Given the description of an element on the screen output the (x, y) to click on. 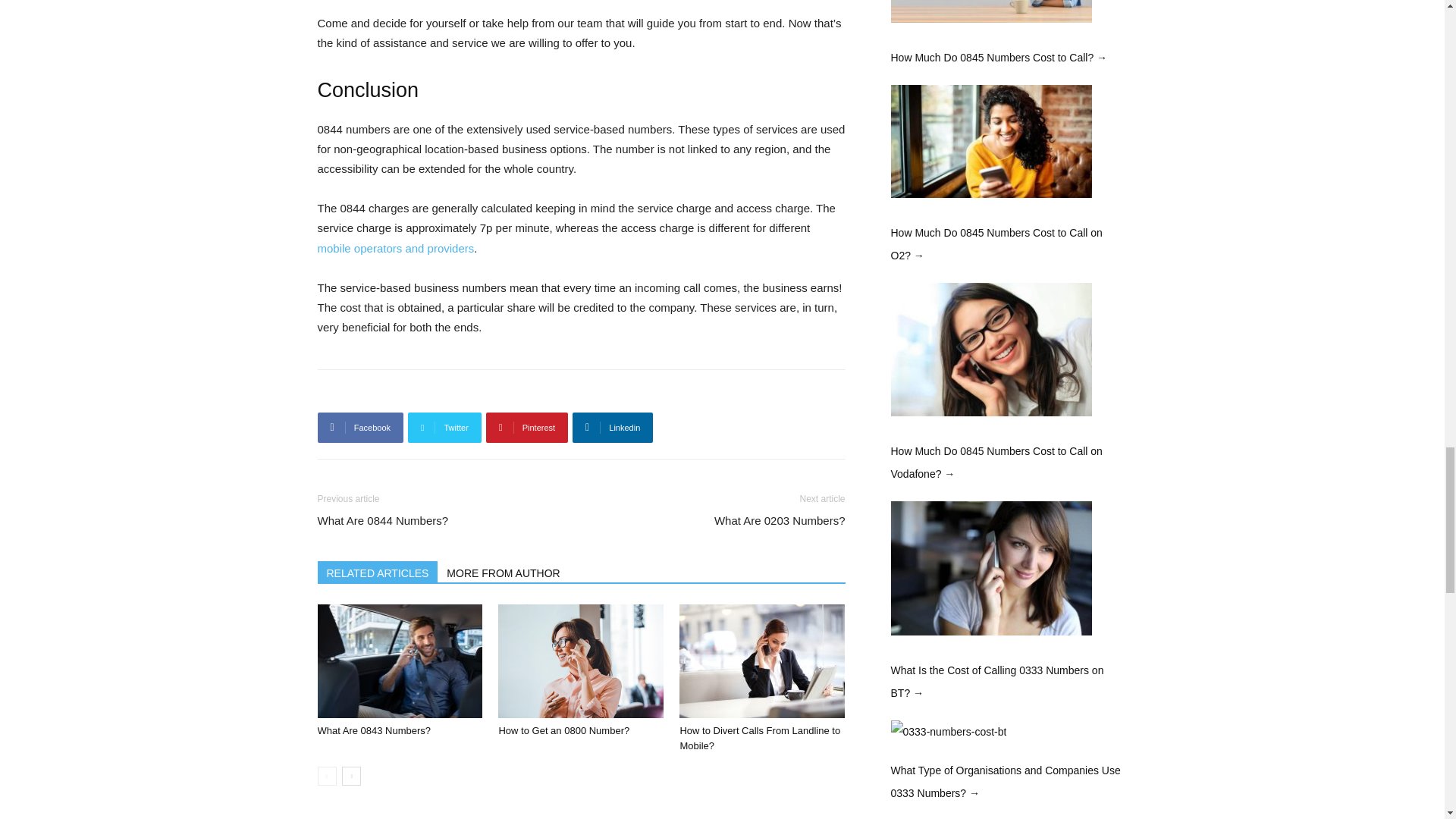
What Are 0843 Numbers? (399, 661)
How to Divert Calls From Landline to Mobile? (759, 737)
What Are 0843 Numbers? (373, 730)
How to Get an 0800 Number? (562, 730)
How to Get an 0800 Number? (580, 661)
How to Divert Calls From Landline to Mobile? (761, 661)
